Given the description of an element on the screen output the (x, y) to click on. 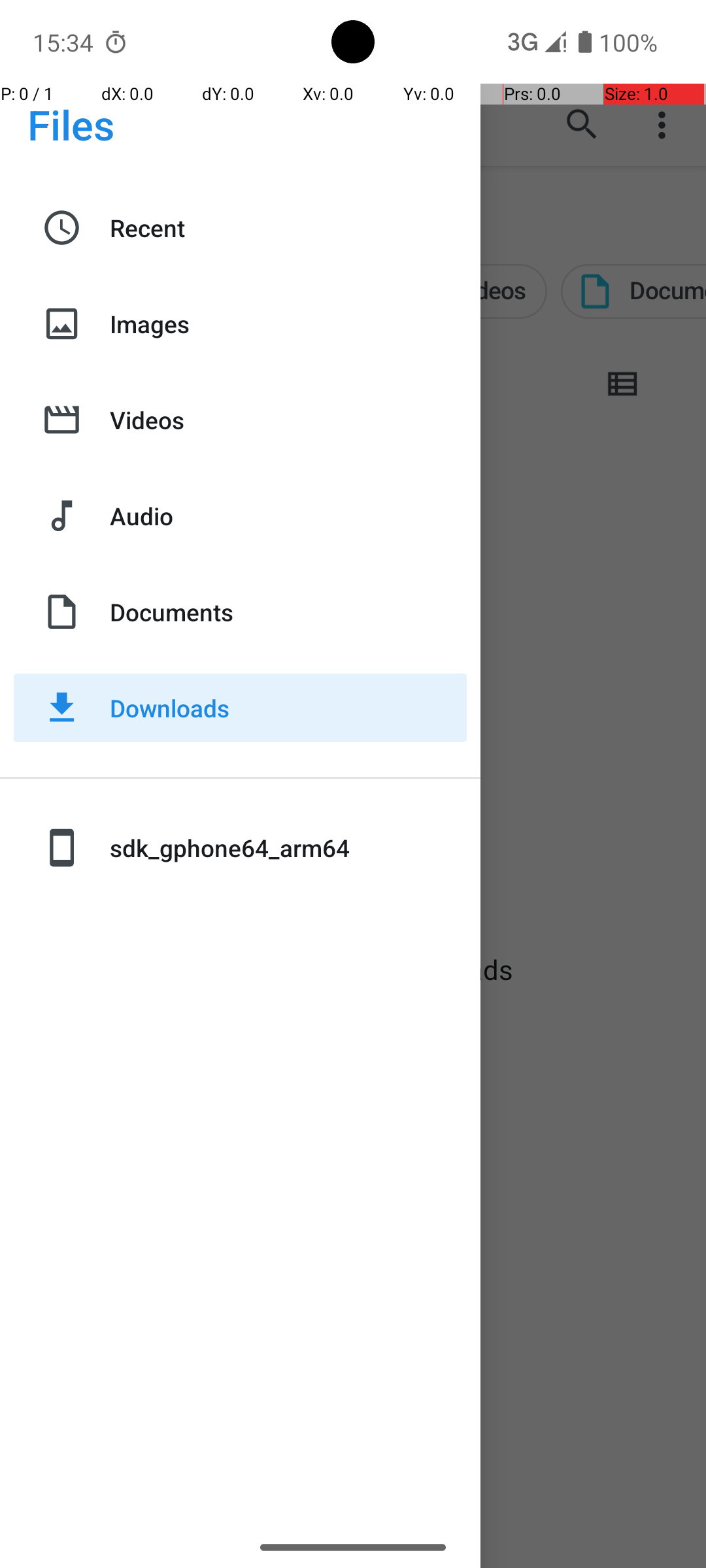
Files Element type: android.widget.TextView (70, 124)
sdk_gphone64_arm64 Element type: android.widget.TextView (287, 847)
